Given the description of an element on the screen output the (x, y) to click on. 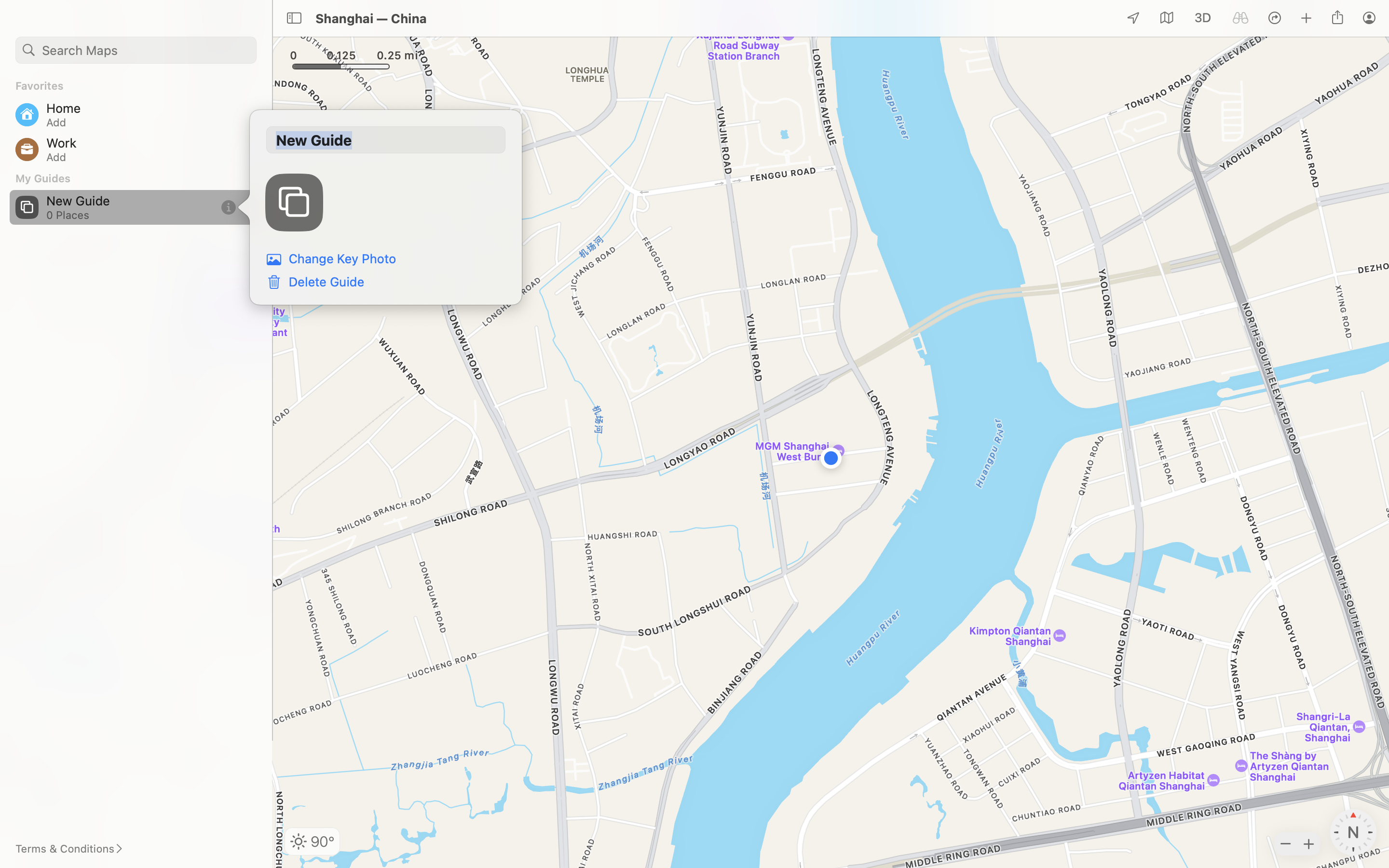
New Guide Element type: AXTextField (385, 139)
0 Element type: AXCheckBox (1202, 18)
